Given the description of an element on the screen output the (x, y) to click on. 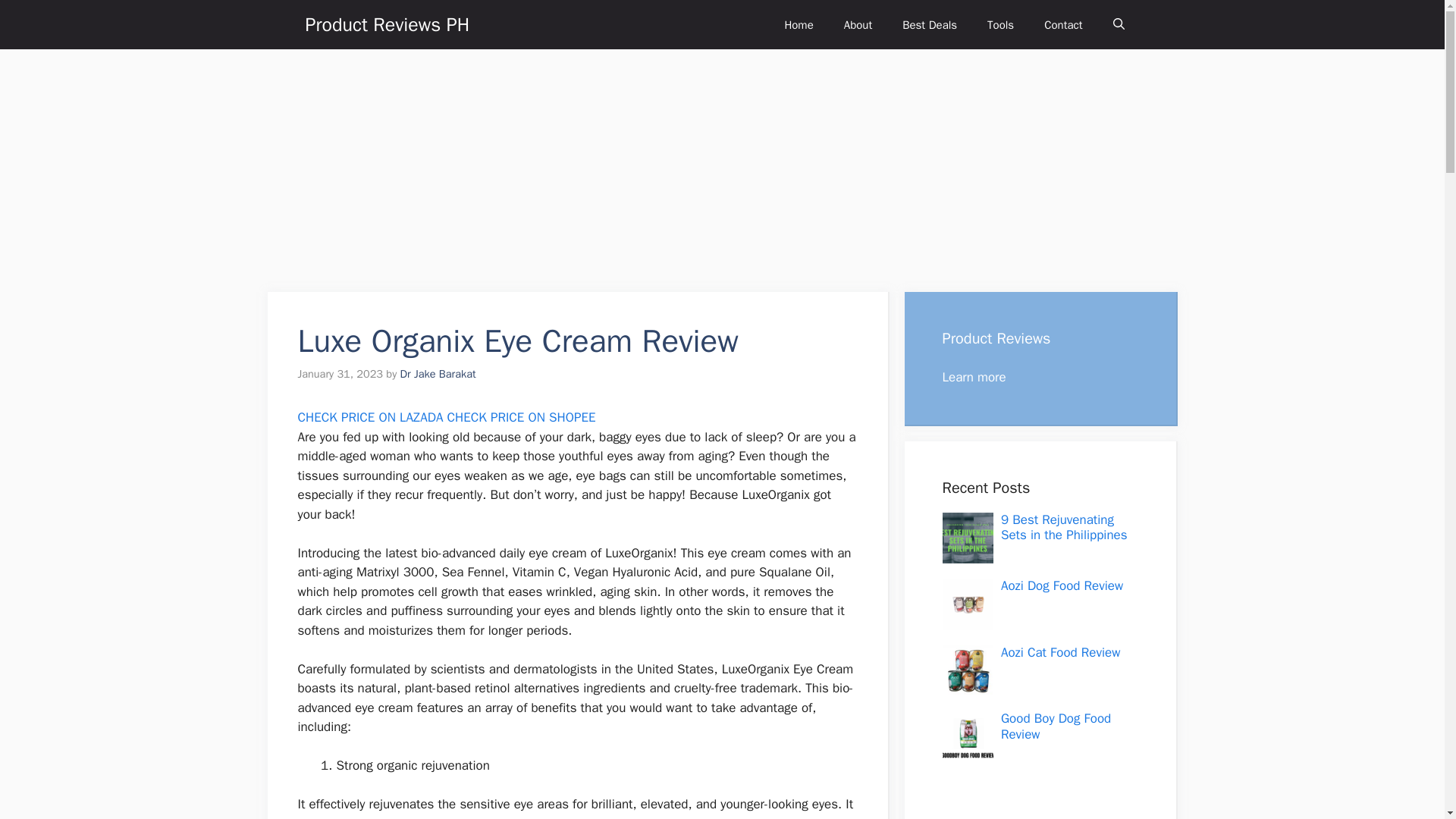
Good Boy Dog Food Review (1055, 726)
Advertisement (1031, 802)
9 Best Rejuvenating Sets in the Philippines (1063, 526)
Product Reviews PH (386, 24)
About (857, 23)
Best Deals (929, 23)
CHECK PRICE ON SHOPEE (520, 417)
Dr Jake Barakat (438, 373)
Aozi Cat Food Review (1061, 652)
Tools (1000, 23)
Contact (1063, 23)
Aozi Dog Food Review (1061, 585)
View all posts by Dr Jake Barakat (438, 373)
Home (798, 23)
